Given the description of an element on the screen output the (x, y) to click on. 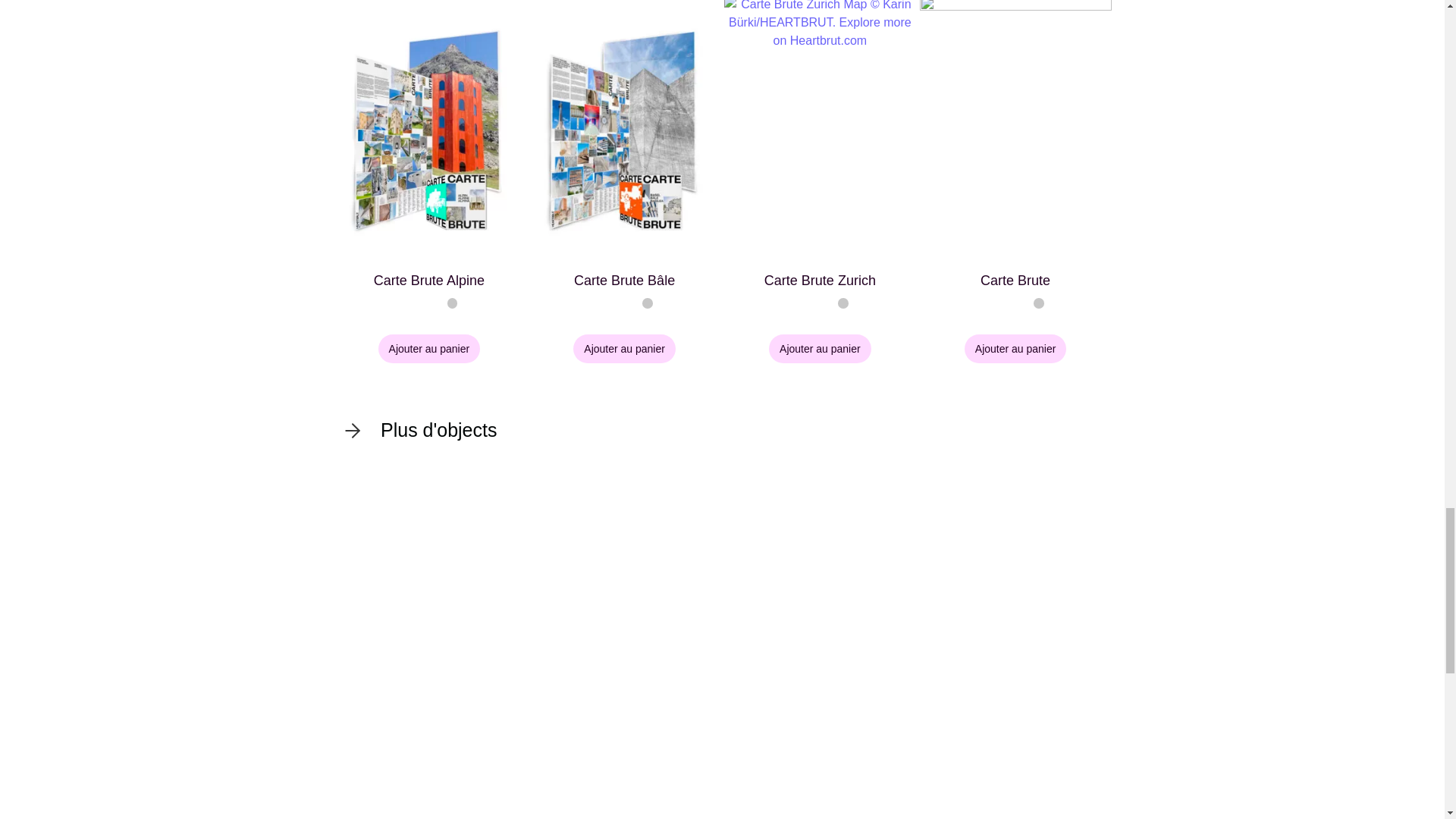
Ajouter au panier (819, 348)
Ajouter au panier (624, 348)
Ajouter au panier (429, 348)
Ajouter au panier (1015, 348)
